Given the description of an element on the screen output the (x, y) to click on. 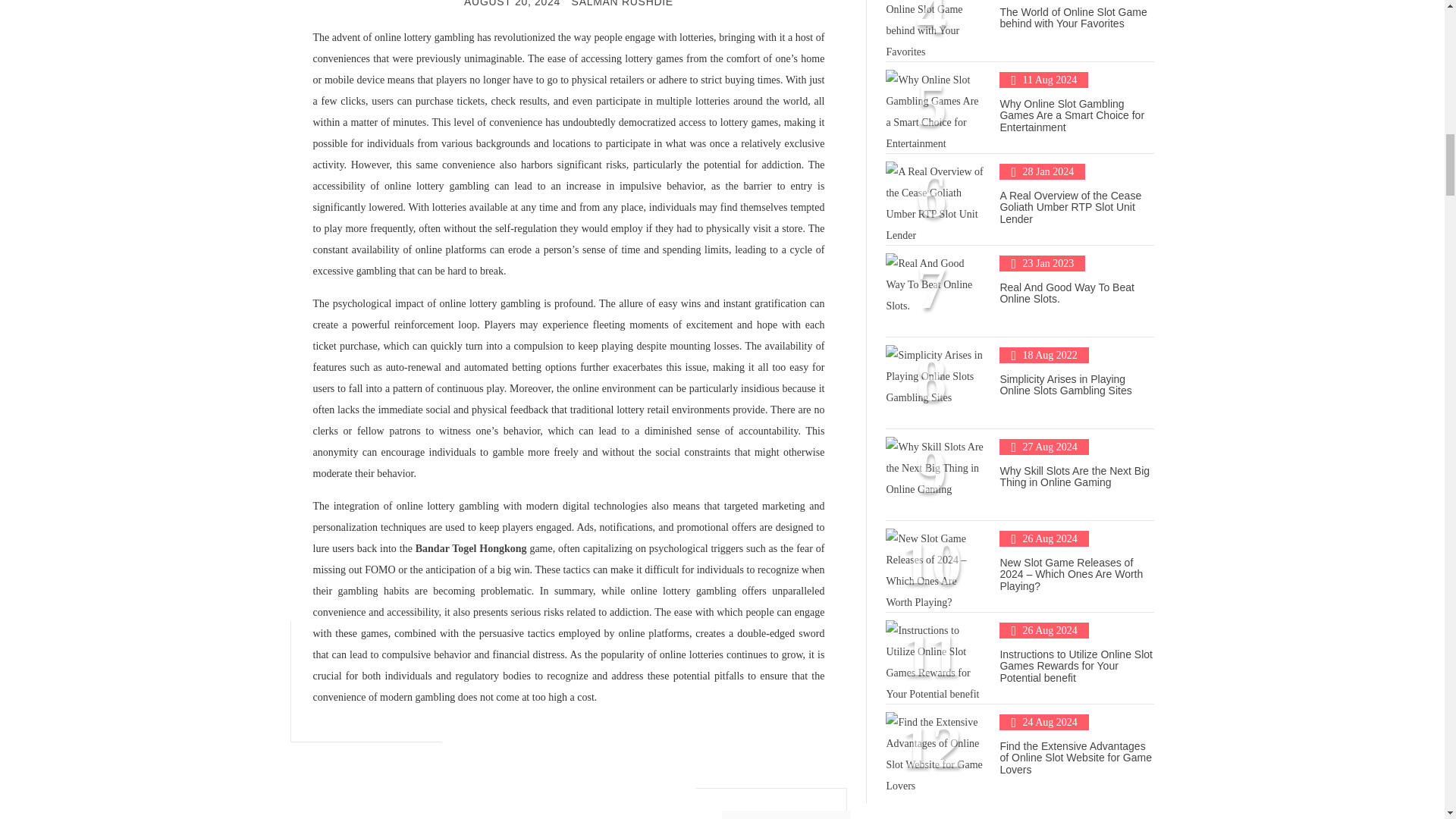
Bandar Togel Hongkong (470, 548)
AUGUST 20, 2024 (512, 3)
SALMAN RUSHDIE (622, 3)
